Given the description of an element on the screen output the (x, y) to click on. 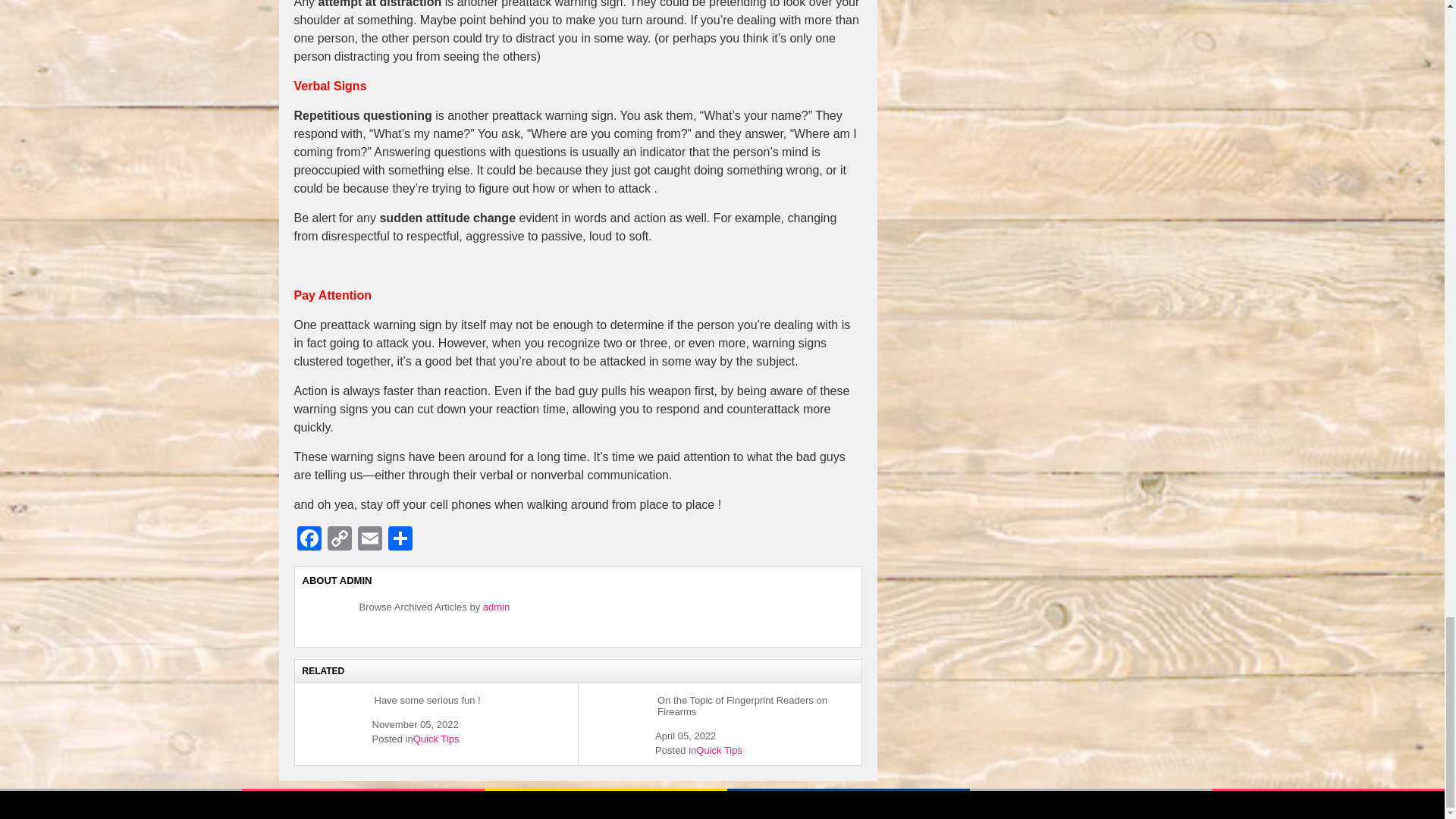
Copy Link (339, 540)
On the Topic of Fingerprint Readers on Firearms (615, 695)
Email (370, 540)
On the Topic of Fingerprint Readers on Firearms (753, 706)
Facebook (309, 540)
Have some serious fun ! (331, 695)
Have some serious fun ! (426, 700)
